Given the description of an element on the screen output the (x, y) to click on. 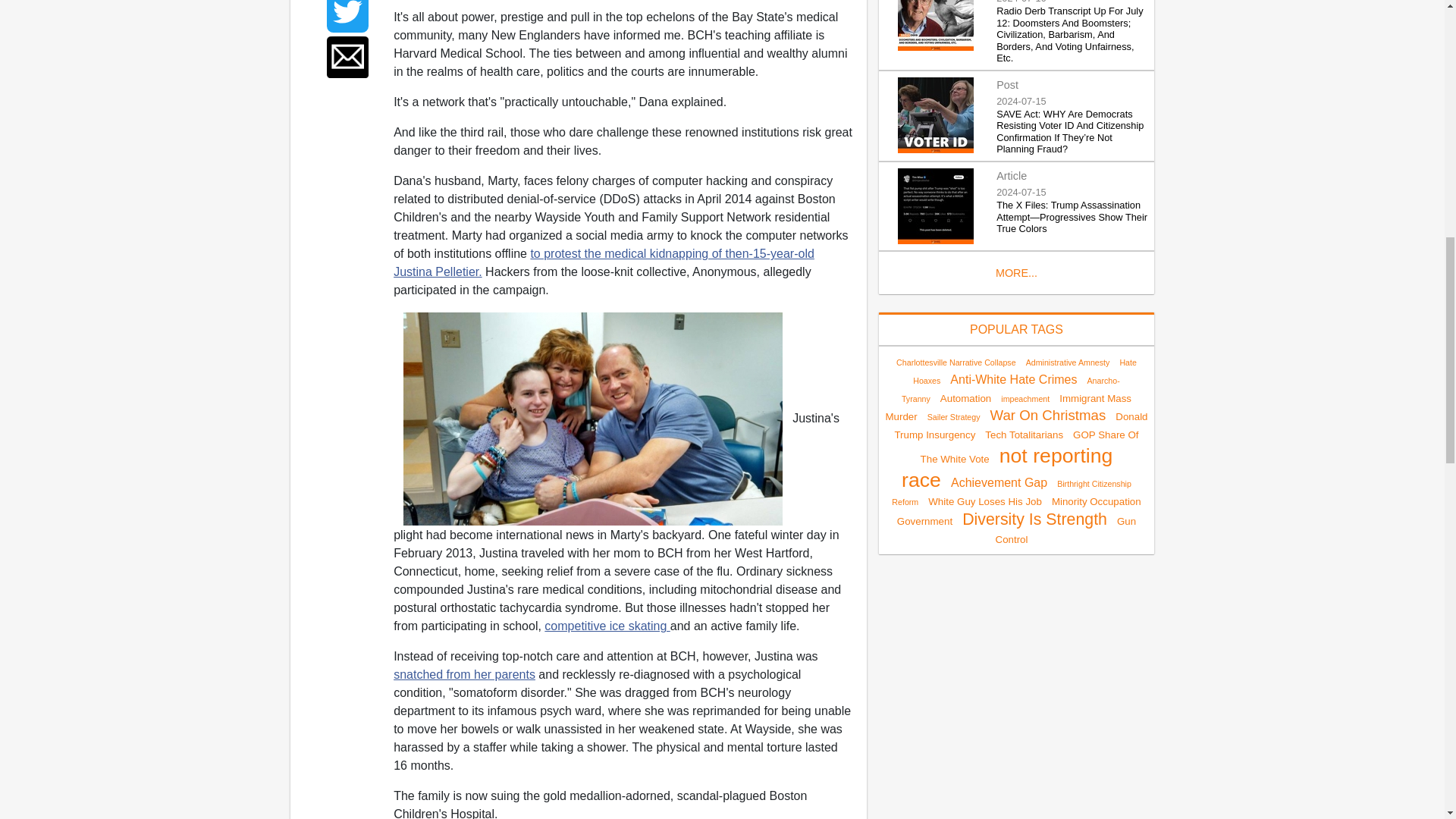
Share to Email (347, 56)
Share to Twitter (347, 16)
